Given the description of an element on the screen output the (x, y) to click on. 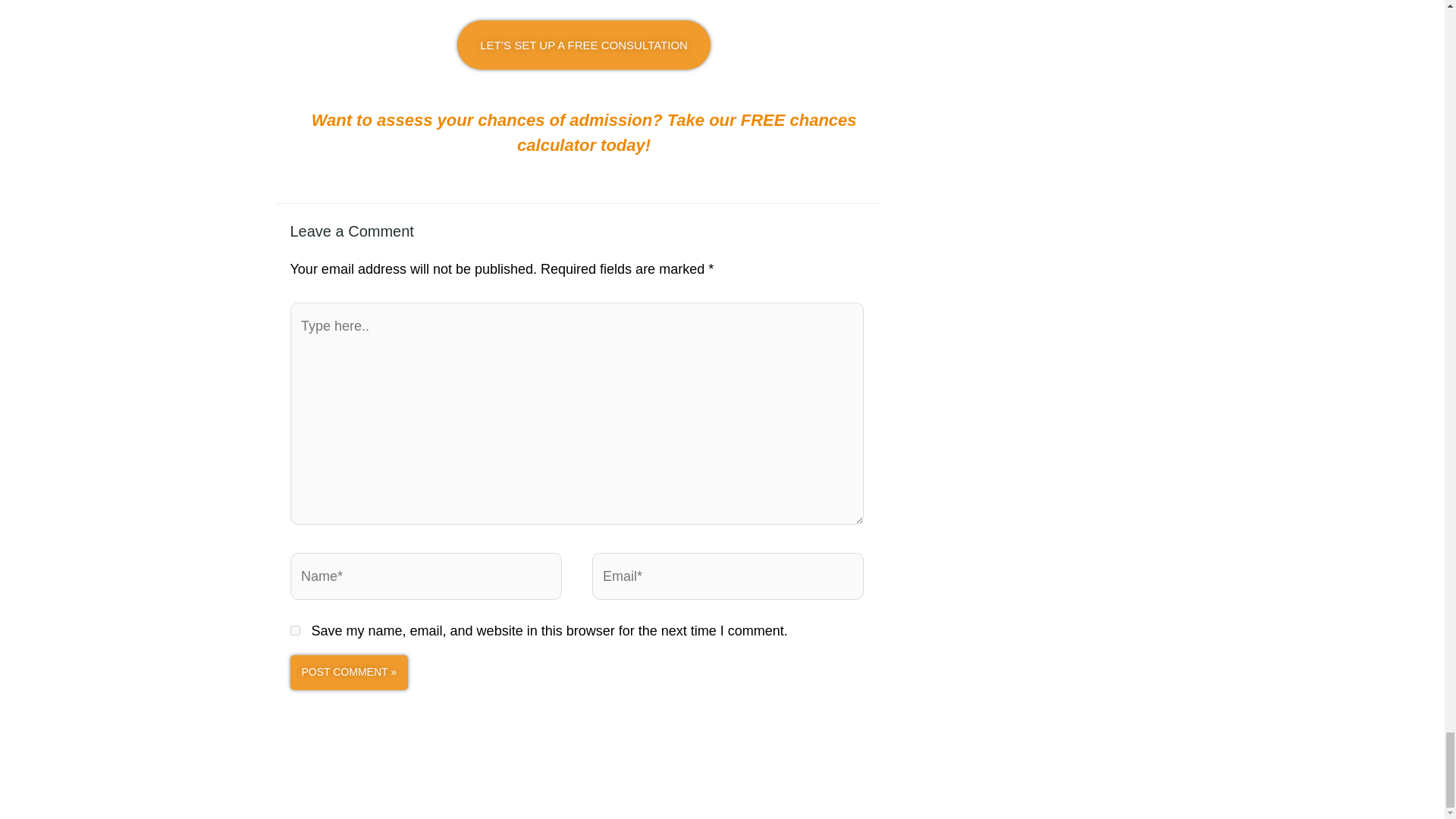
yes (294, 630)
